Given the description of an element on the screen output the (x, y) to click on. 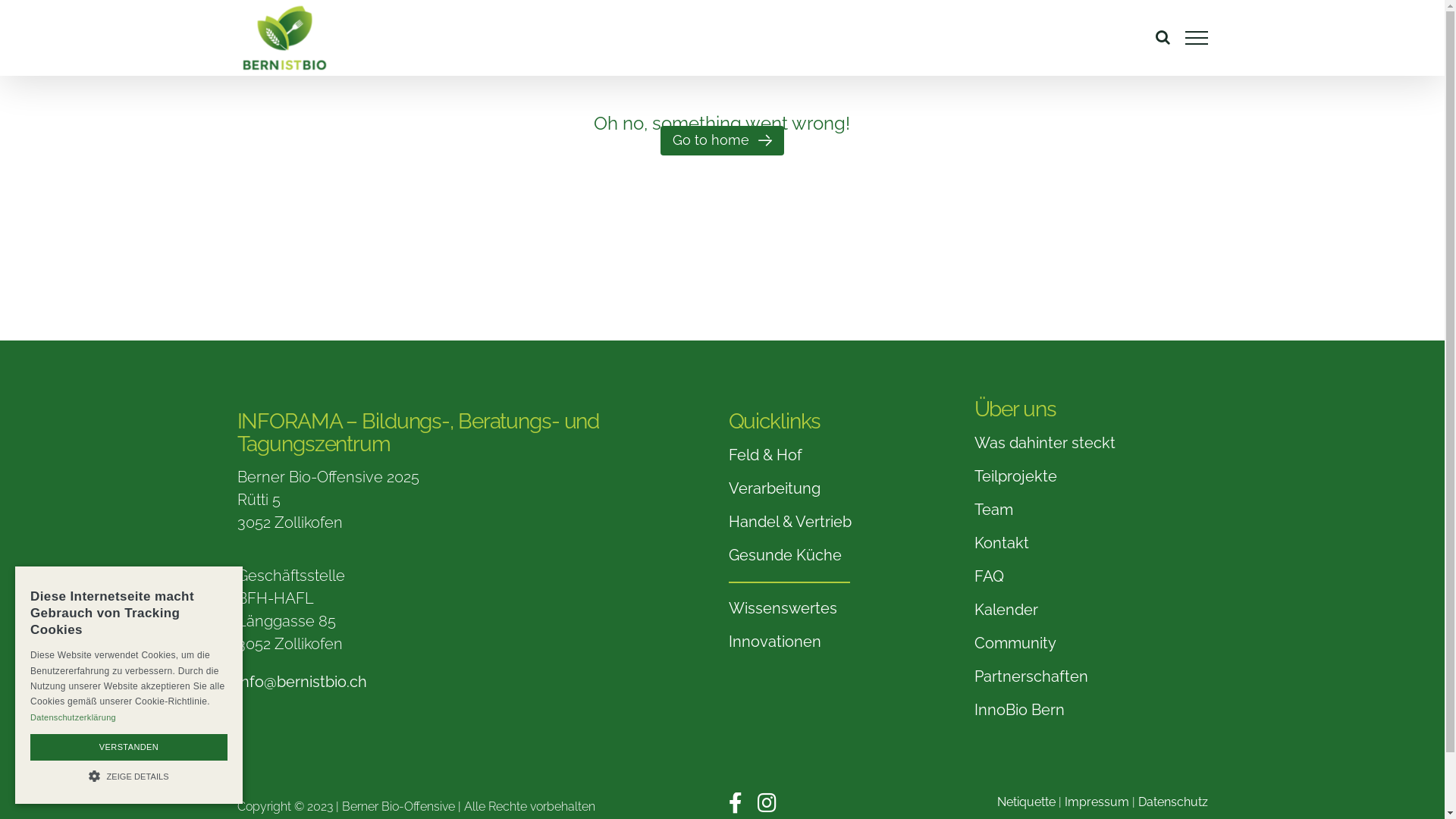
Community Element type: text (1090, 643)
Kalender Element type: text (1090, 610)
InnoBio Bern Element type: text (1090, 710)
Impressum Element type: text (1096, 801)
Handel & Vertrieb Element type: text (844, 522)
Teilprojekte Element type: text (1090, 476)
FAQ Element type: text (1090, 576)
info@bernistbio.ch Element type: text (301, 681)
Feld & Hof Element type: text (844, 455)
Go to home Element type: text (722, 140)
Wissenswertes Element type: text (844, 608)
Was dahinter steckt Element type: text (1090, 443)
Innovationen Element type: text (844, 641)
Kontakt Element type: text (1090, 543)
Datenschutz Element type: text (1172, 801)
Verarbeitung Element type: text (844, 488)
Partnerschaften Element type: text (1090, 676)
Netiquette Element type: text (1025, 801)
Team Element type: text (1090, 510)
